Given the description of an element on the screen output the (x, y) to click on. 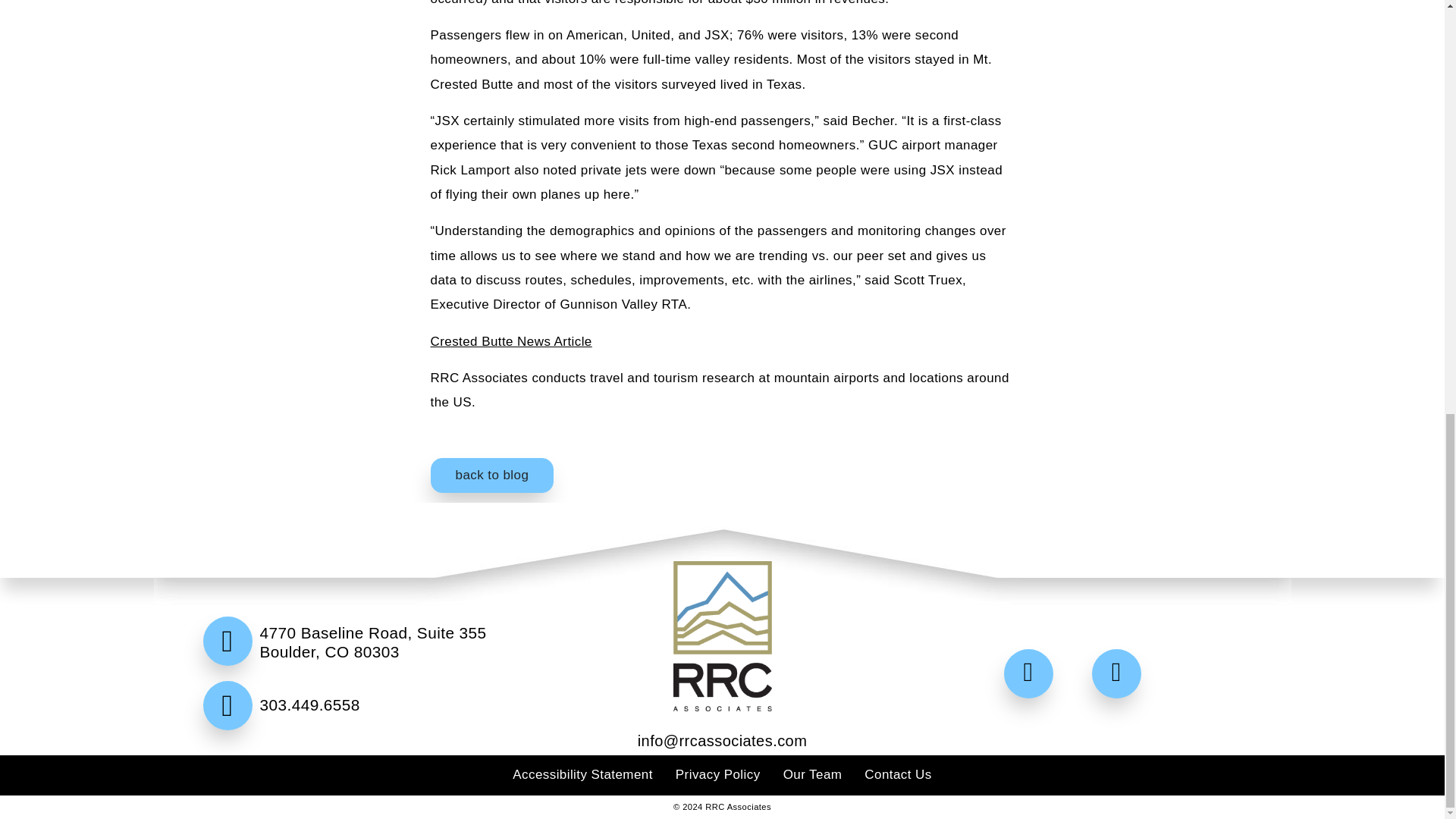
back to blog (492, 475)
Contact Us (897, 774)
303.449.6558 (368, 739)
RRC Associates on Twitter (1032, 674)
Accessibility Statement (582, 774)
RRC Associates on LinkedIn (1120, 674)
Our Team (813, 774)
Privacy Policy (717, 774)
4770 Baseline Road, Suite 355 Boulder, CO 80303 (368, 651)
Crested Butte News Article (511, 341)
